Given the description of an element on the screen output the (x, y) to click on. 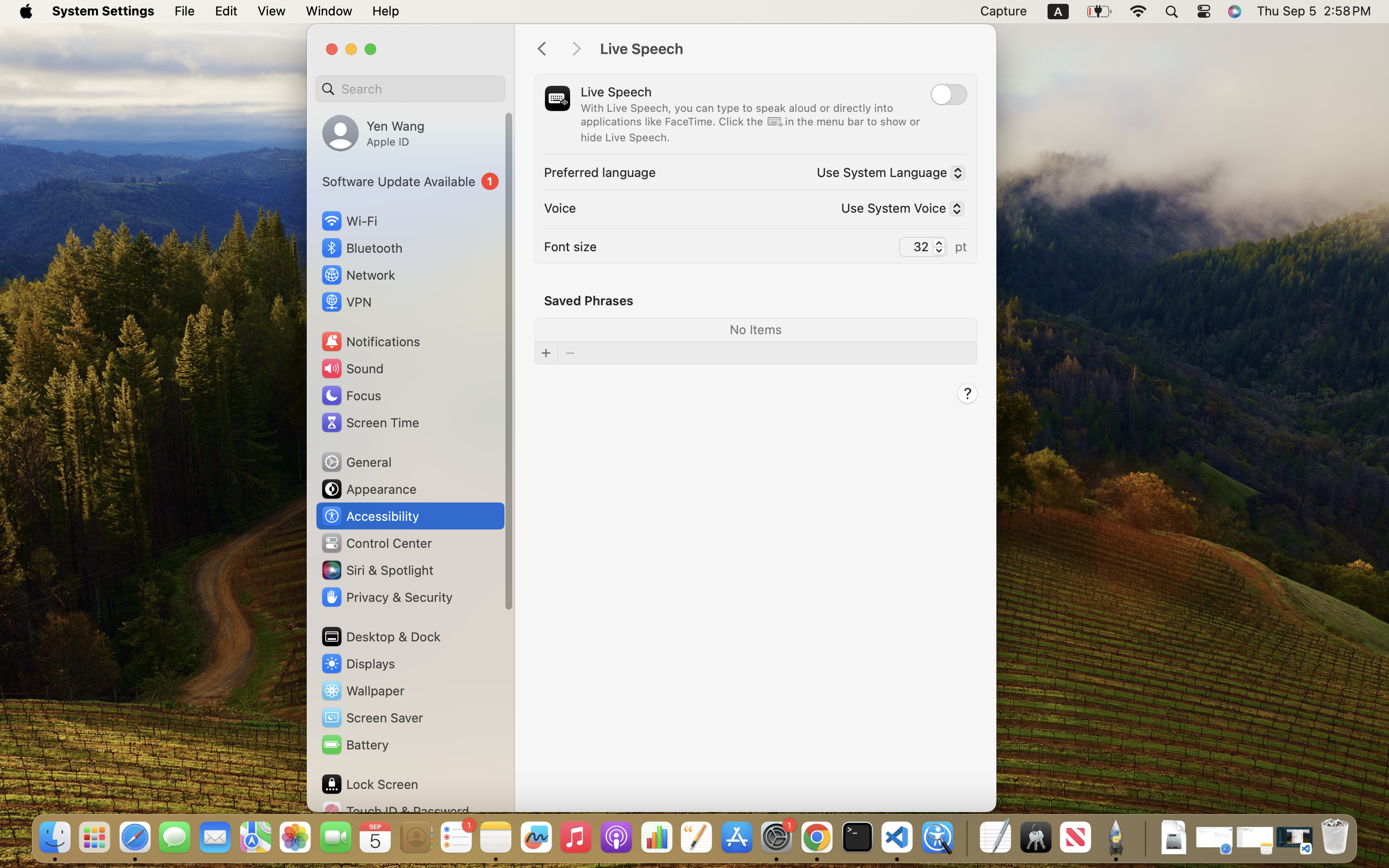
Notifications Element type: AXStaticText (370, 340)
Use System Language Element type: AXPopUpButton (886, 174)
Control Center Element type: AXStaticText (376, 542)
No Items Element type: AXStaticText (755, 328)
Privacy & Security Element type: AXStaticText (386, 596)
